Given the description of an element on the screen output the (x, y) to click on. 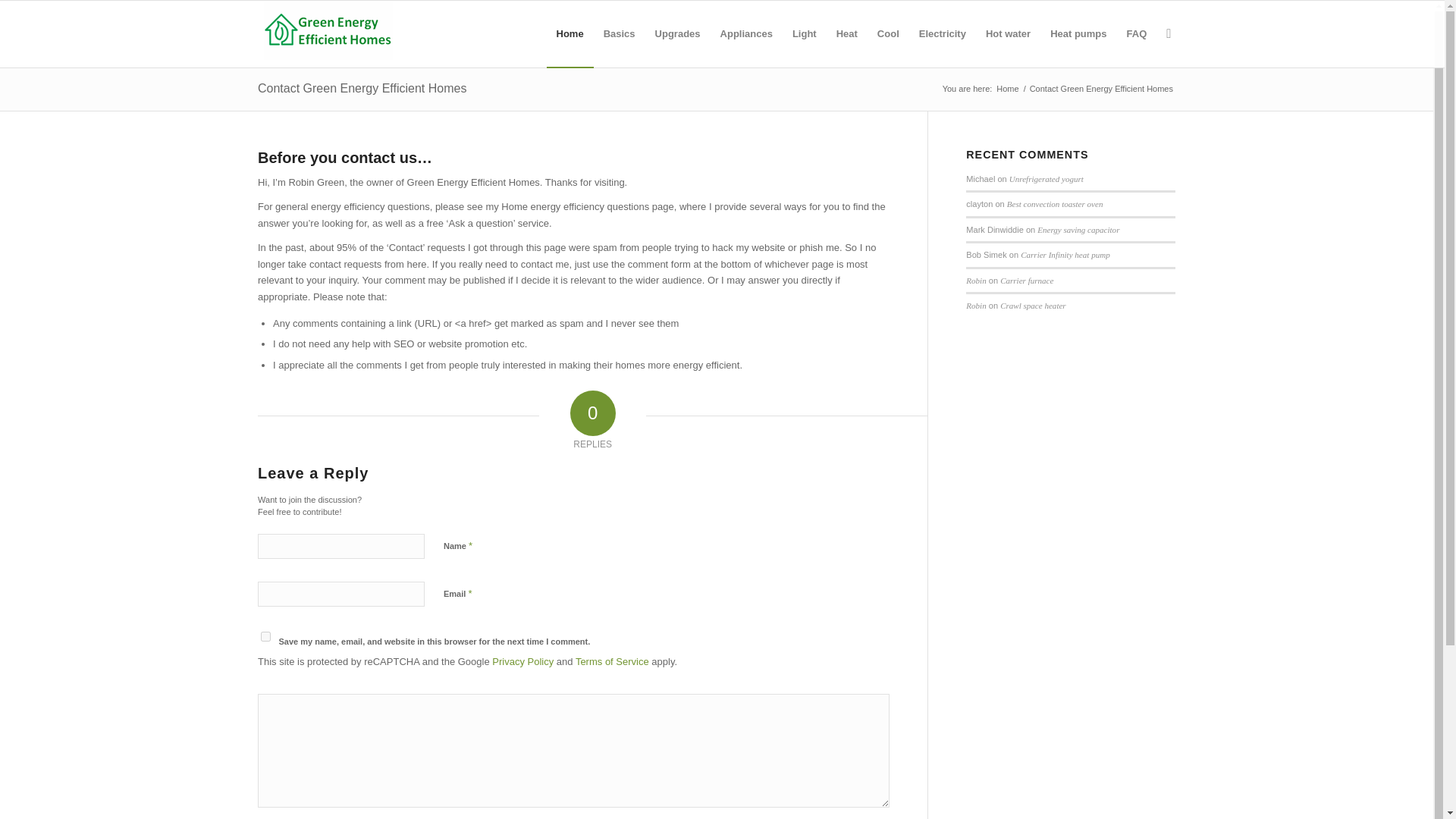
yes (265, 636)
Upgrades (677, 33)
Permanent Link: Contact Green Energy Efficient Homes (361, 88)
Green Energy Efficient Homes (1007, 89)
Appliances (746, 33)
